Given the description of an element on the screen output the (x, y) to click on. 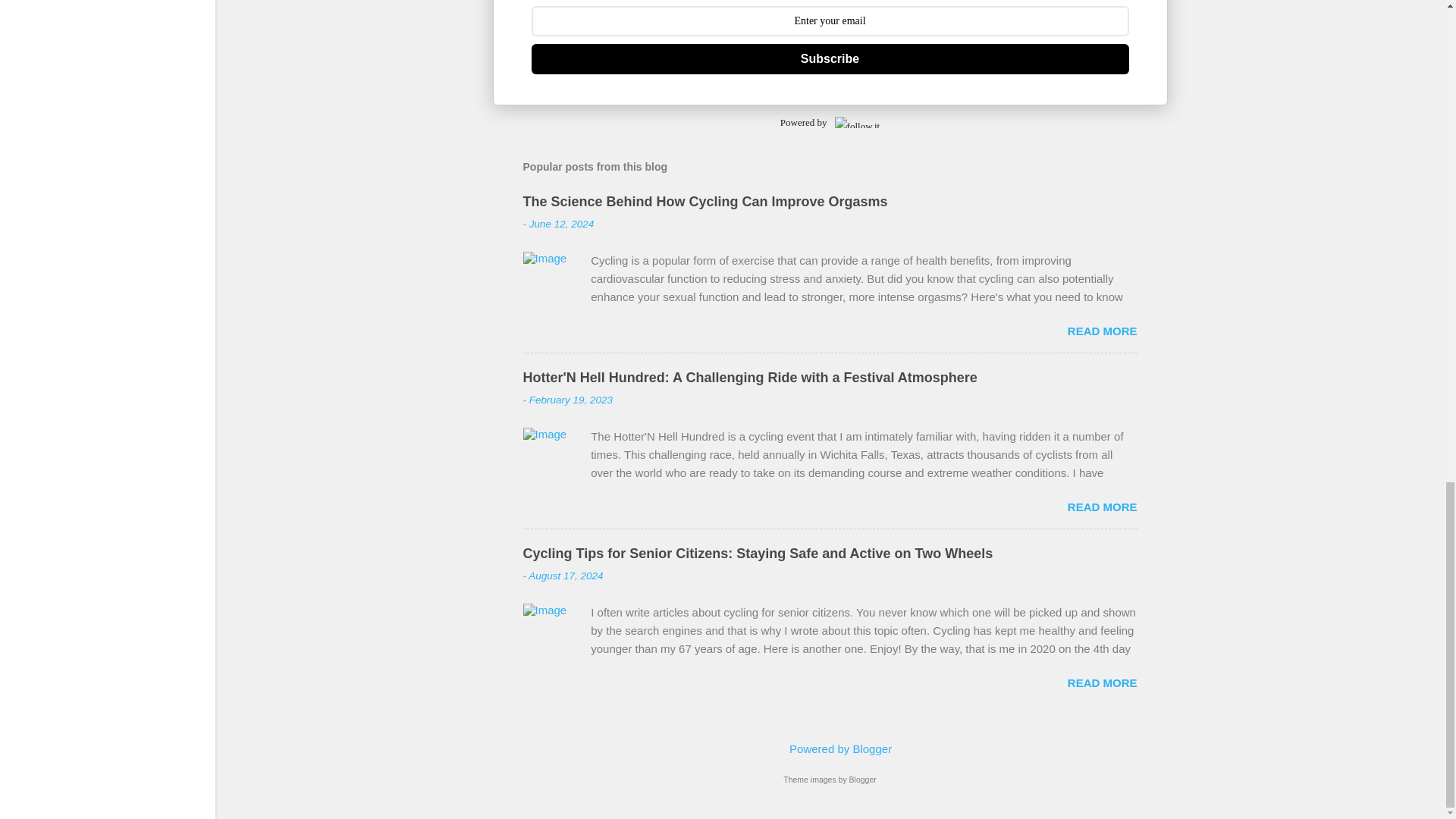
READ MORE (1102, 330)
February 19, 2023 (570, 399)
Powered by (830, 122)
Powered by Blogger (829, 748)
permanent link (561, 224)
June 12, 2024 (561, 224)
August 17, 2024 (565, 575)
Subscribe (829, 59)
READ MORE (1102, 506)
